Given the description of an element on the screen output the (x, y) to click on. 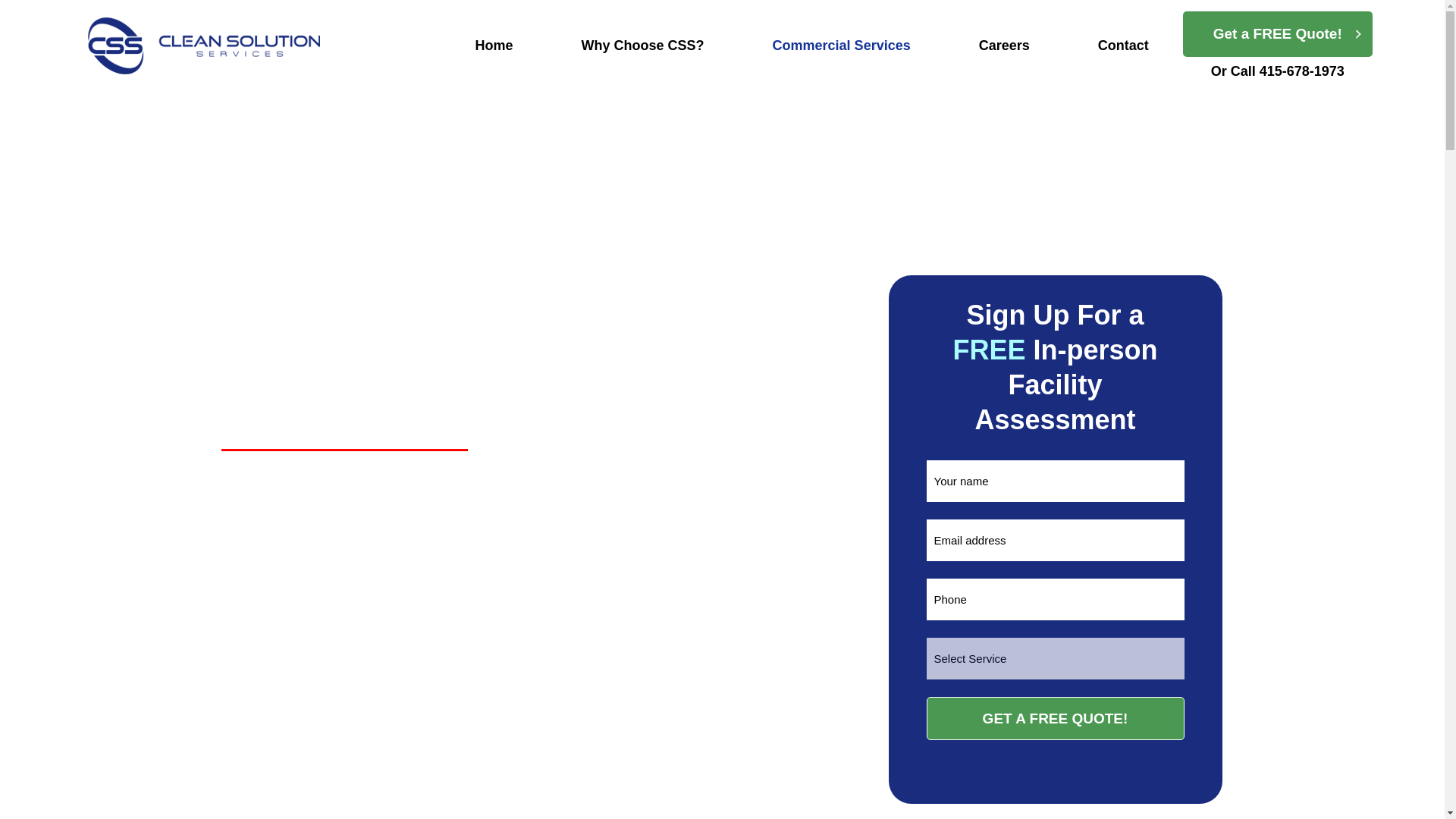
Clean Solution Services (217, 45)
Or Call 415-678-1973 (1277, 71)
Careers (1004, 45)
GET A FREE QUOTE! (1055, 718)
Contact (1123, 45)
Home (494, 45)
Why Choose CSS? (642, 45)
Get a FREE Quote! (1277, 28)
GET A FREE QUOTE! (1055, 718)
Commercial Services (841, 45)
